Given the description of an element on the screen output the (x, y) to click on. 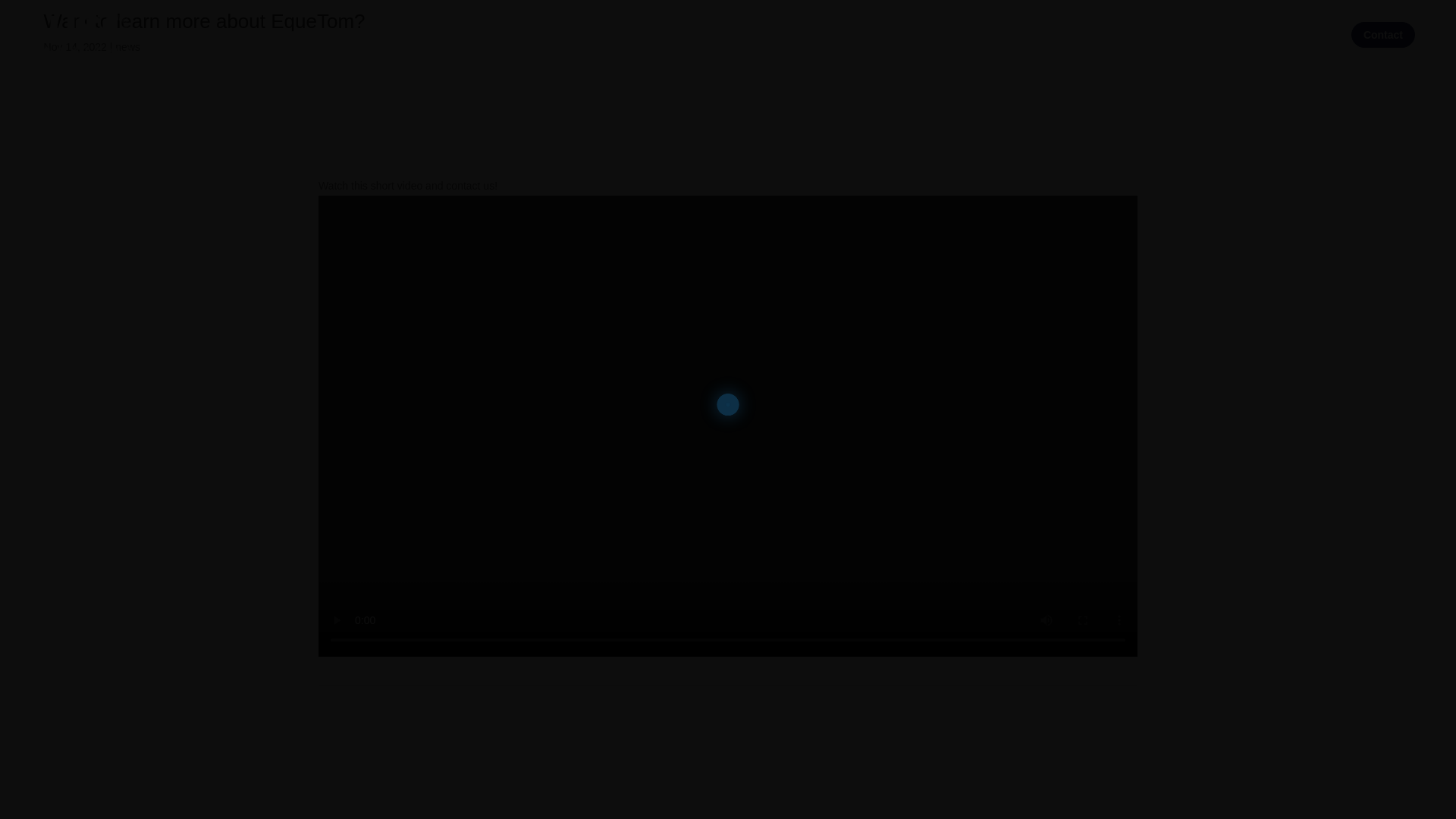
Supply (271, 47)
News (1308, 33)
Luso Vet (418, 47)
news (127, 46)
Strategy (201, 47)
Luso Electronics (1207, 33)
Services (341, 47)
Contact (1383, 34)
